Given the description of an element on the screen output the (x, y) to click on. 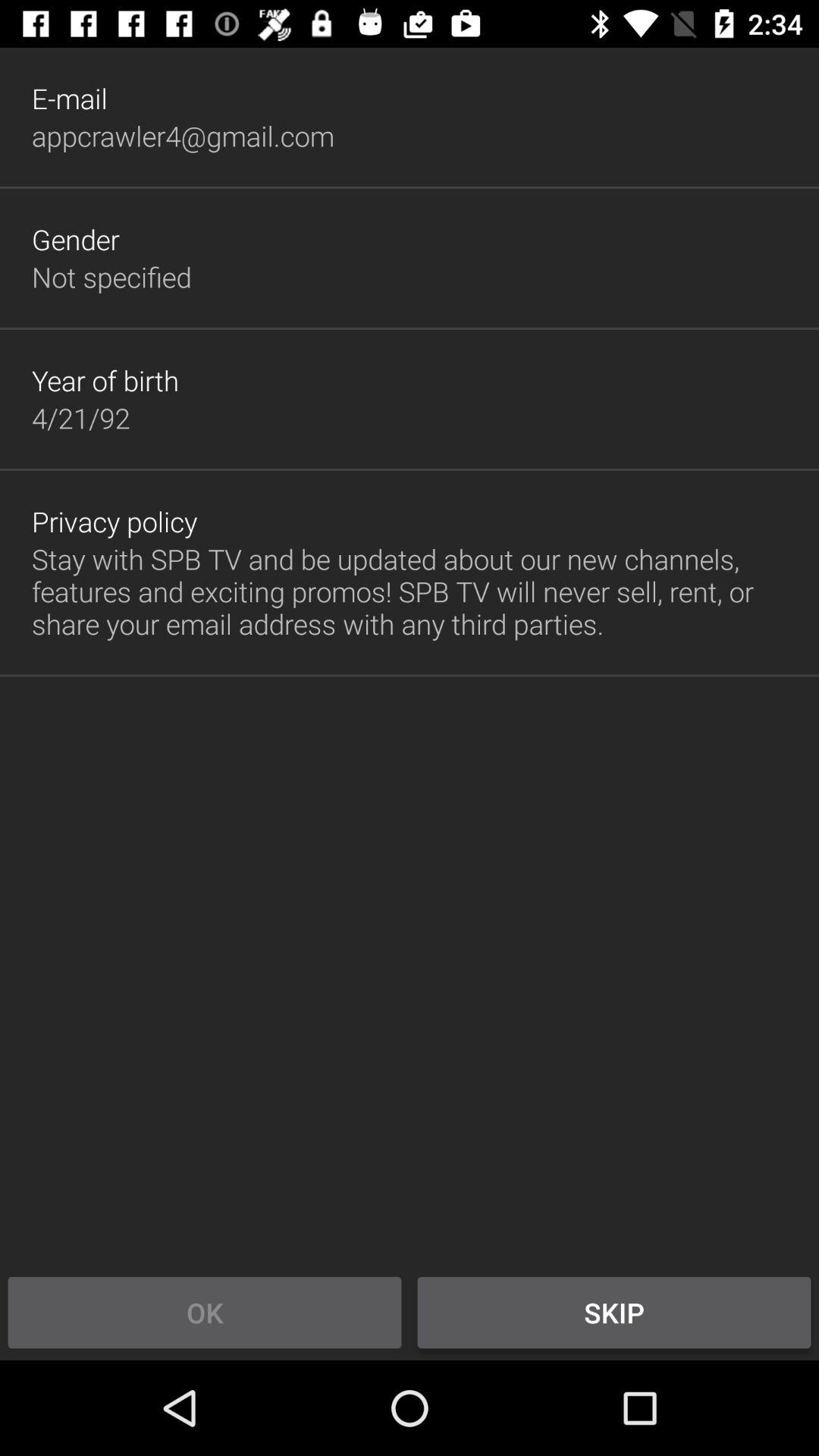
turn on e-mail item (69, 98)
